Given the description of an element on the screen output the (x, y) to click on. 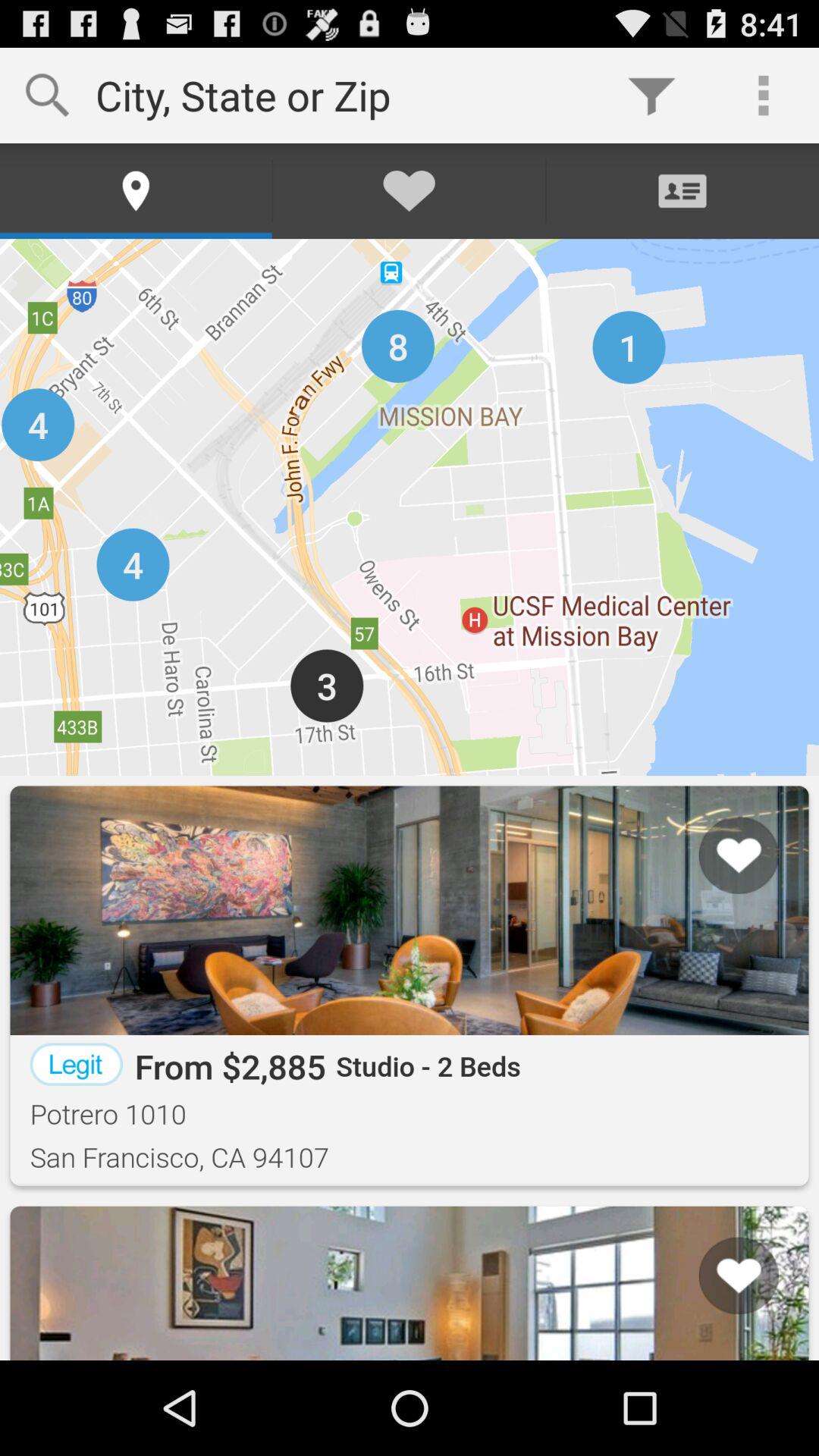
select the item next to the from $2,885 icon (76, 1064)
